Given the description of an element on the screen output the (x, y) to click on. 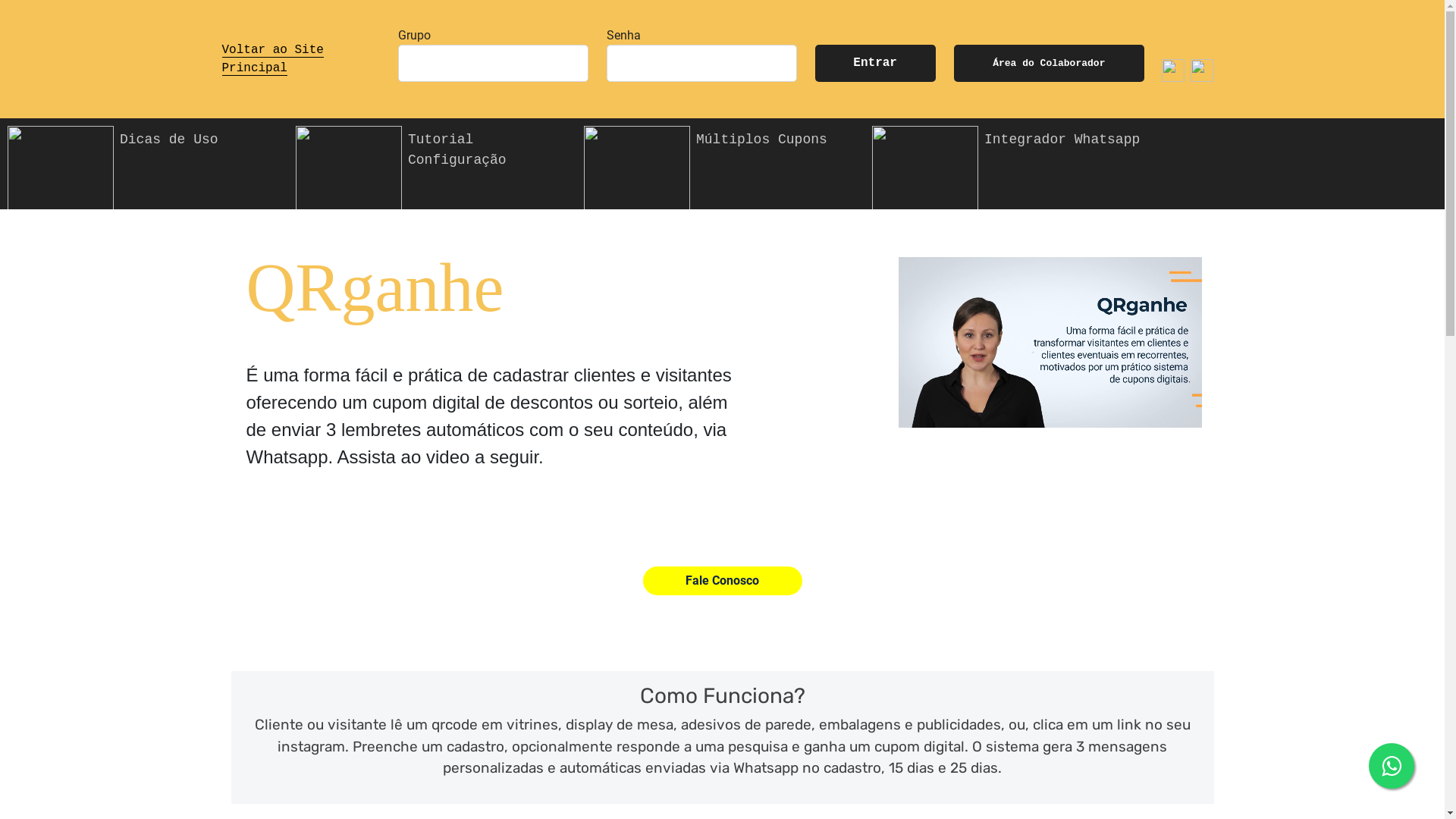
Dicas de Uso Element type: text (144, 165)
Fale Conosco Element type: text (722, 580)
Entrar Element type: text (874, 62)
Integrador Whatsapp Element type: text (1008, 165)
Voltar ao Site Principal Element type: text (272, 59)
